Given the description of an element on the screen output the (x, y) to click on. 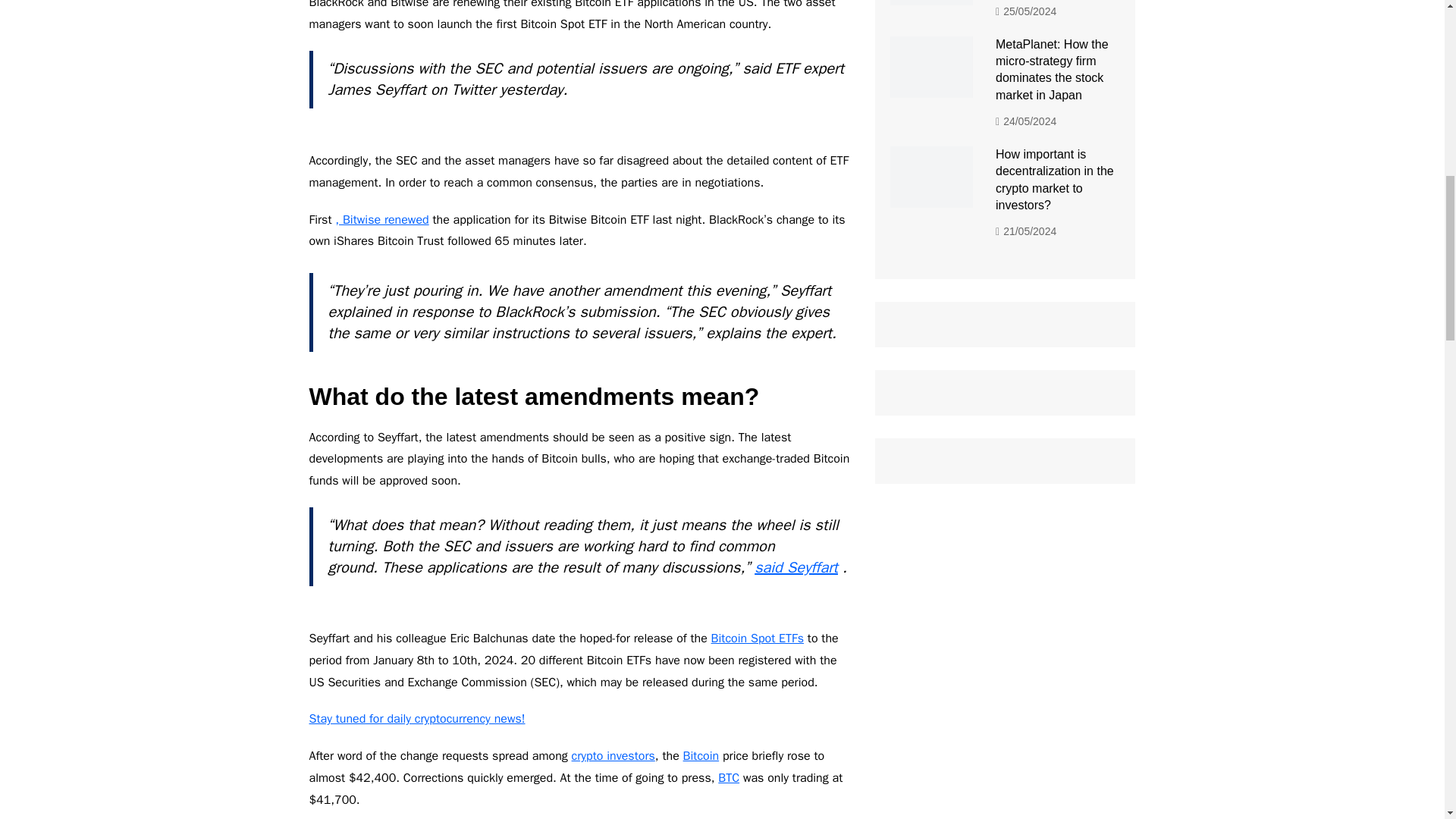
Stay tuned for daily cryptocurrency news! (416, 718)
BTC (728, 777)
Bitcoin Spot ETFs (757, 638)
, Bitwise renewed (381, 219)
Bitcoin (700, 755)
said Seyffart (796, 567)
crypto investors (613, 755)
